Given the description of an element on the screen output the (x, y) to click on. 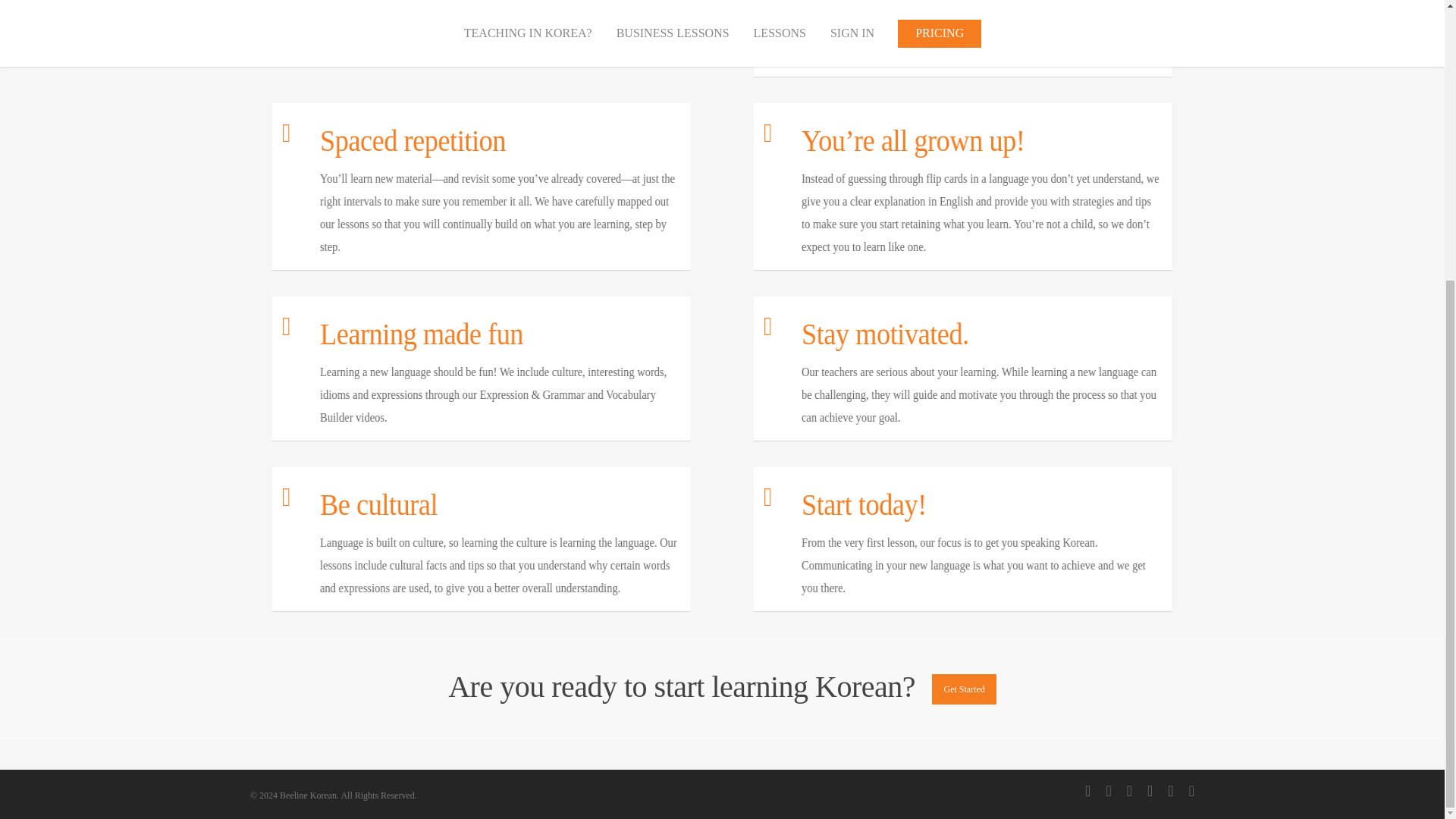
Get Started (963, 689)
